Given the description of an element on the screen output the (x, y) to click on. 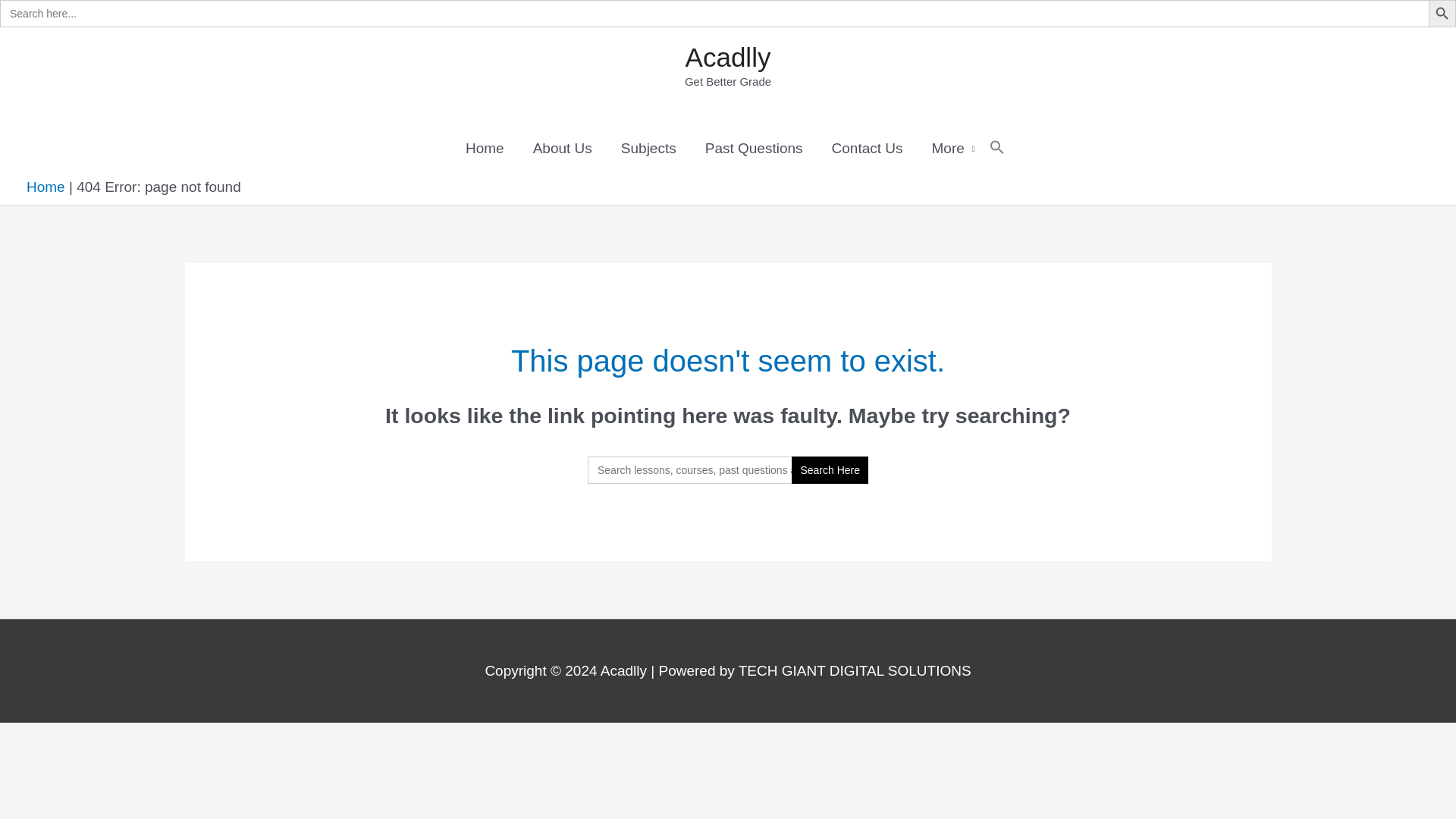
Search Here (829, 470)
Acadlly (728, 57)
Subjects (648, 148)
Past Questions (753, 148)
About Us (562, 148)
Search Here (829, 470)
Home (45, 186)
More (953, 148)
Contact Us (866, 148)
Home (484, 148)
